Given the description of an element on the screen output the (x, y) to click on. 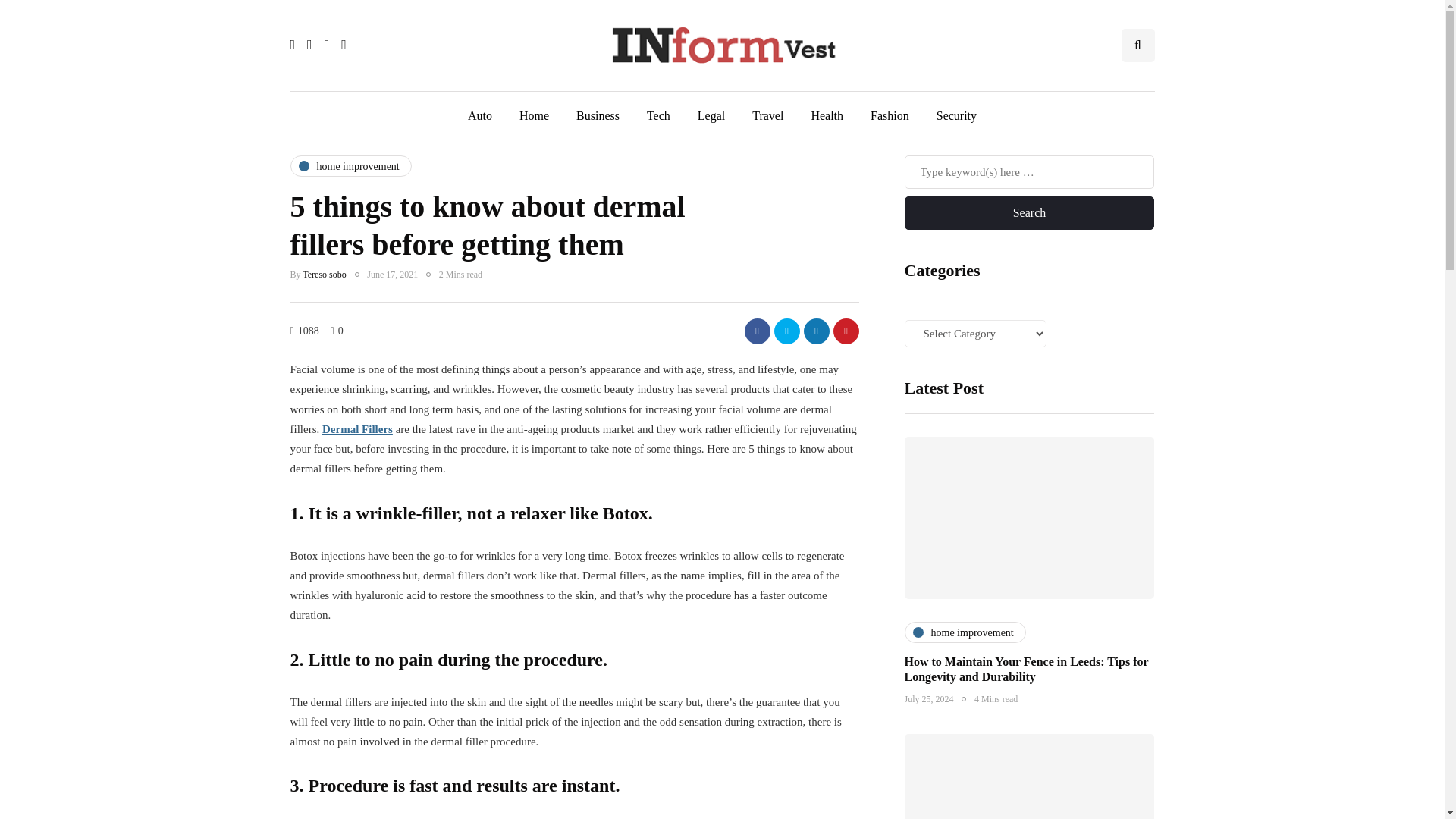
Dermal Fillers (357, 428)
Search (1029, 213)
home improvement (349, 165)
Auto (479, 115)
Share with Facebook (757, 330)
Pin this (845, 330)
Home (533, 115)
Health (826, 115)
Tech (658, 115)
Security (956, 115)
Posts by Tereso sobo (324, 274)
Fashion (890, 115)
Business (597, 115)
Tweet this (786, 330)
